Given the description of an element on the screen output the (x, y) to click on. 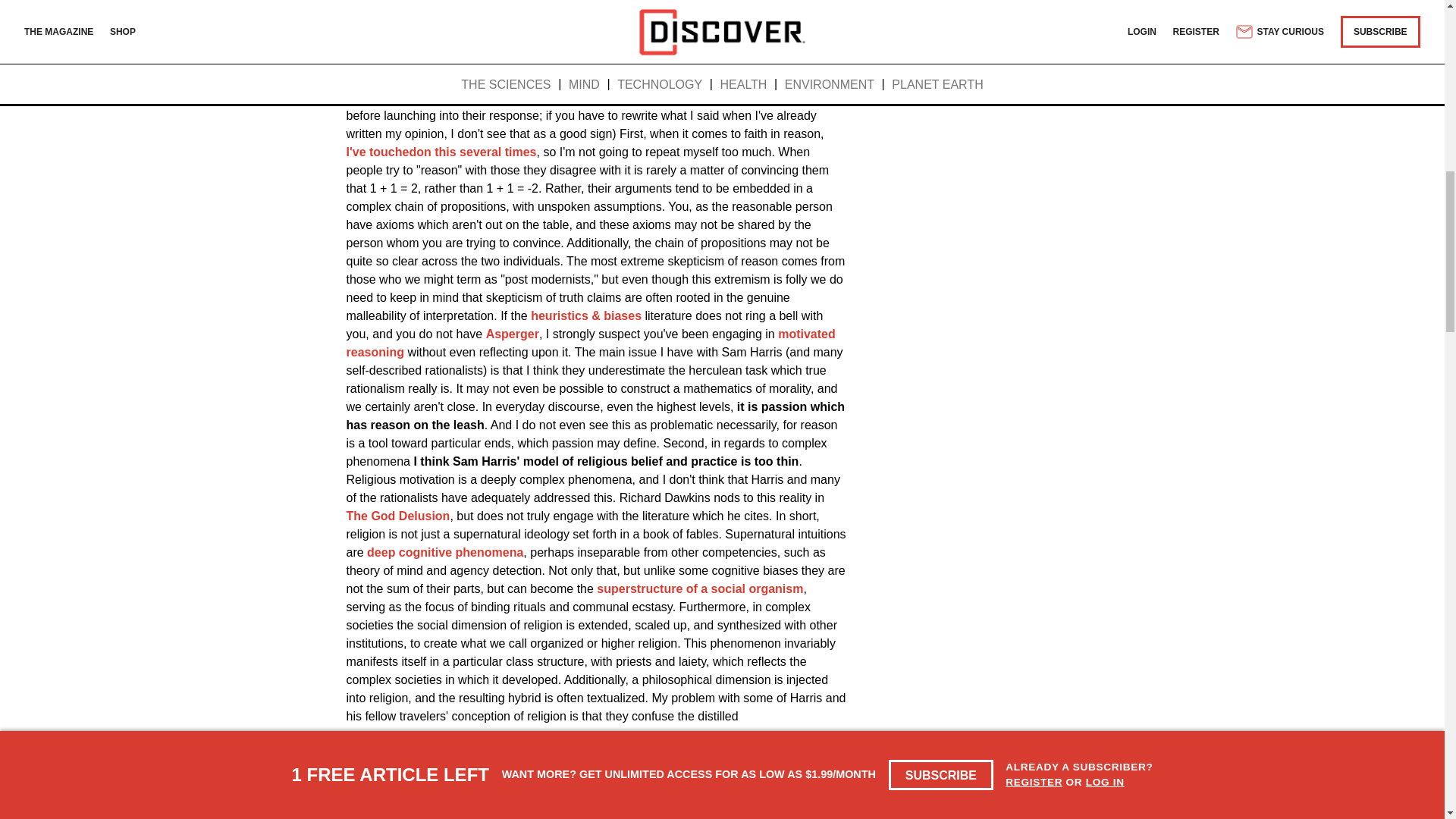
End of Faith (717, 6)
motivated reasoning (590, 342)
Asperger (512, 333)
deep psychological and social robustness (593, 776)
on this several times (475, 151)
The God Delusion (397, 515)
superstructure of a social organism (699, 588)
deep cognitive phenomena (444, 552)
I've touched (381, 151)
